Given the description of an element on the screen output the (x, y) to click on. 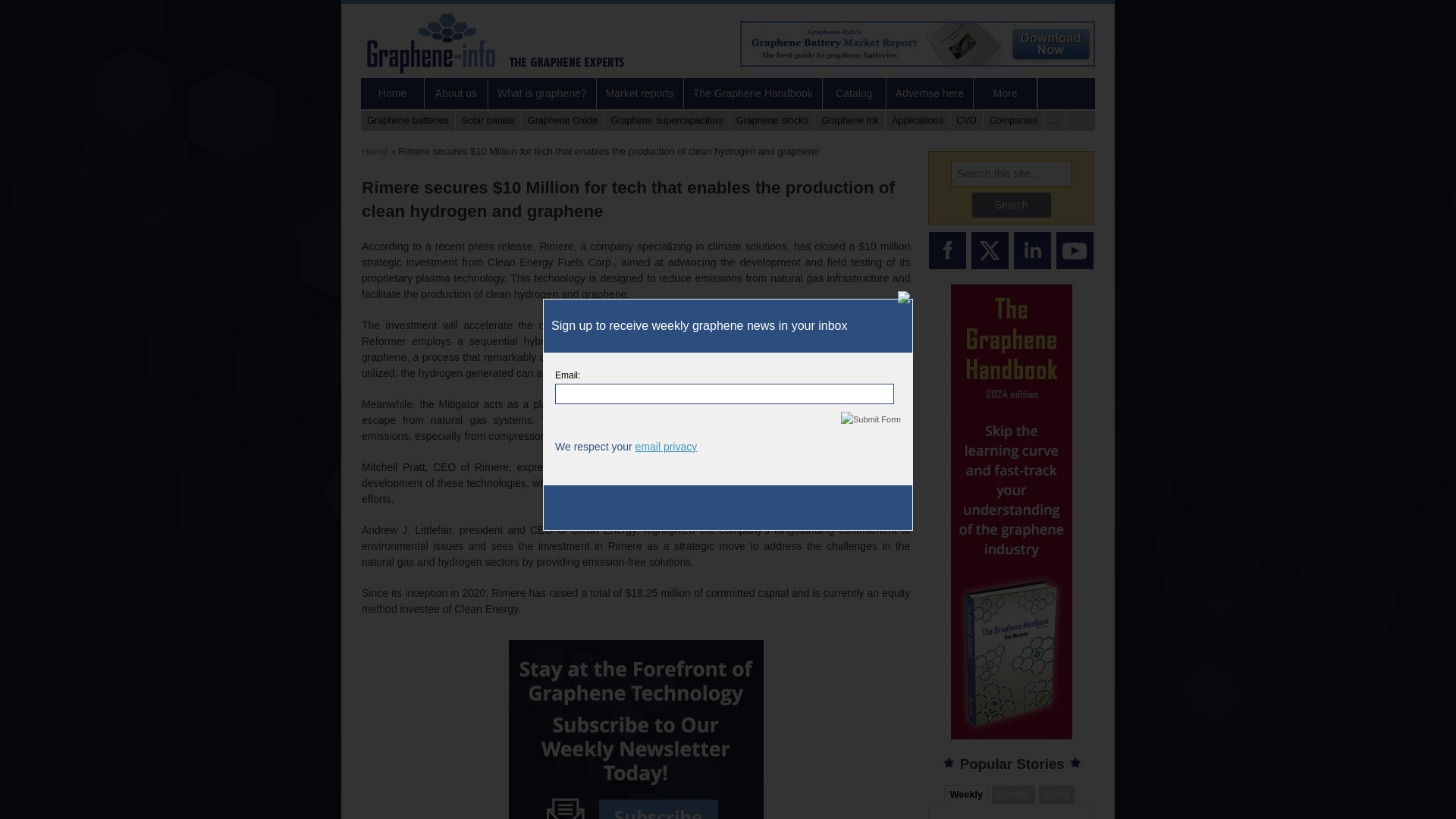
Solar panels (488, 120)
Graphene supercapacitors (666, 120)
Home (393, 92)
Applications (917, 120)
Home (374, 151)
Graphene Oxide (562, 120)
Privacy Policy (665, 446)
Advertise here (930, 92)
Enter the terms you wish to search for. (1010, 173)
Graphene stocks (772, 120)
Market reports (640, 92)
The Graphene Handbook (753, 92)
CVD (967, 120)
Graphene Ink (850, 120)
Graphene batteries (408, 120)
